Given the description of an element on the screen output the (x, y) to click on. 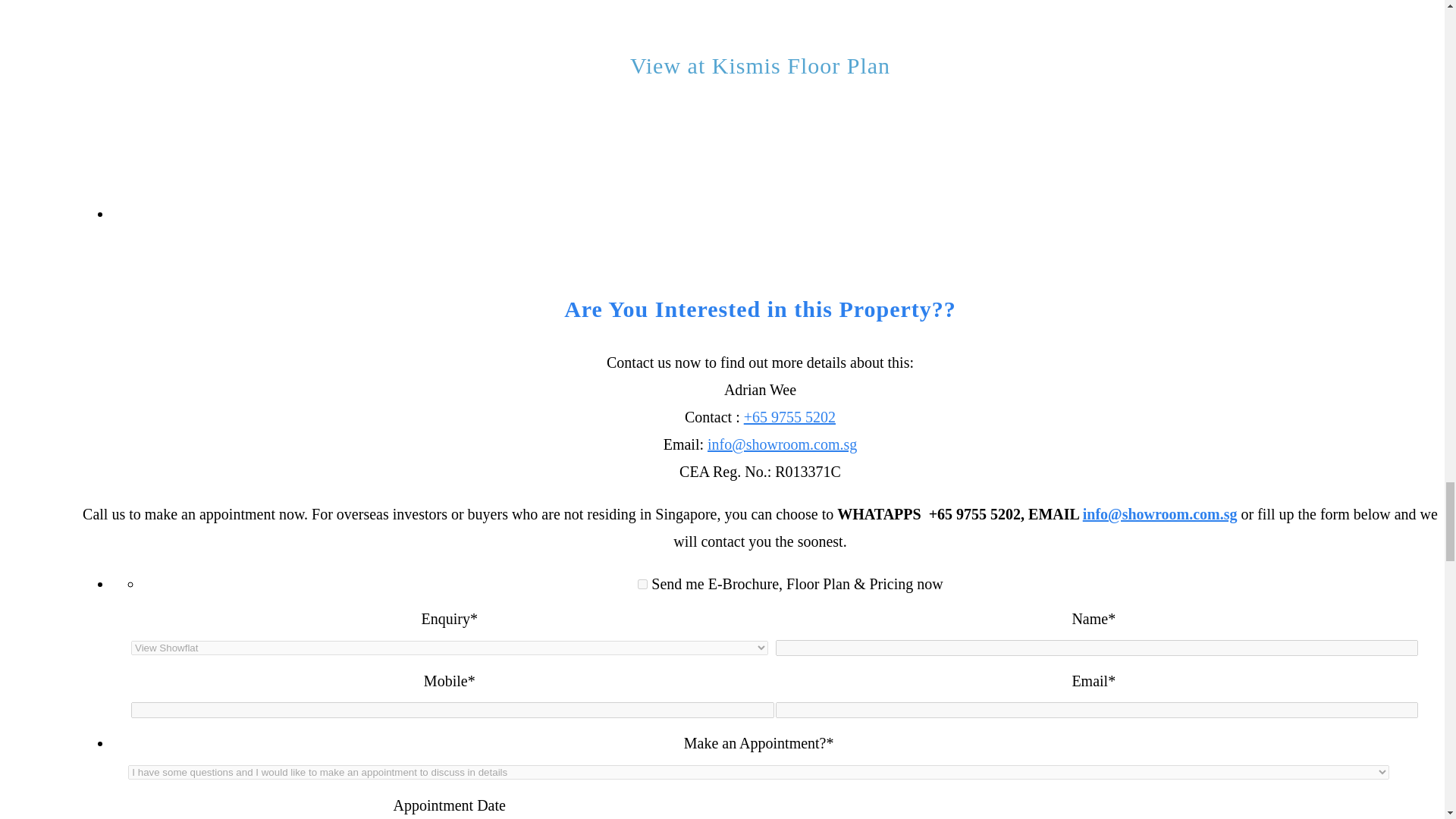
Yes (642, 583)
